Given the description of an element on the screen output the (x, y) to click on. 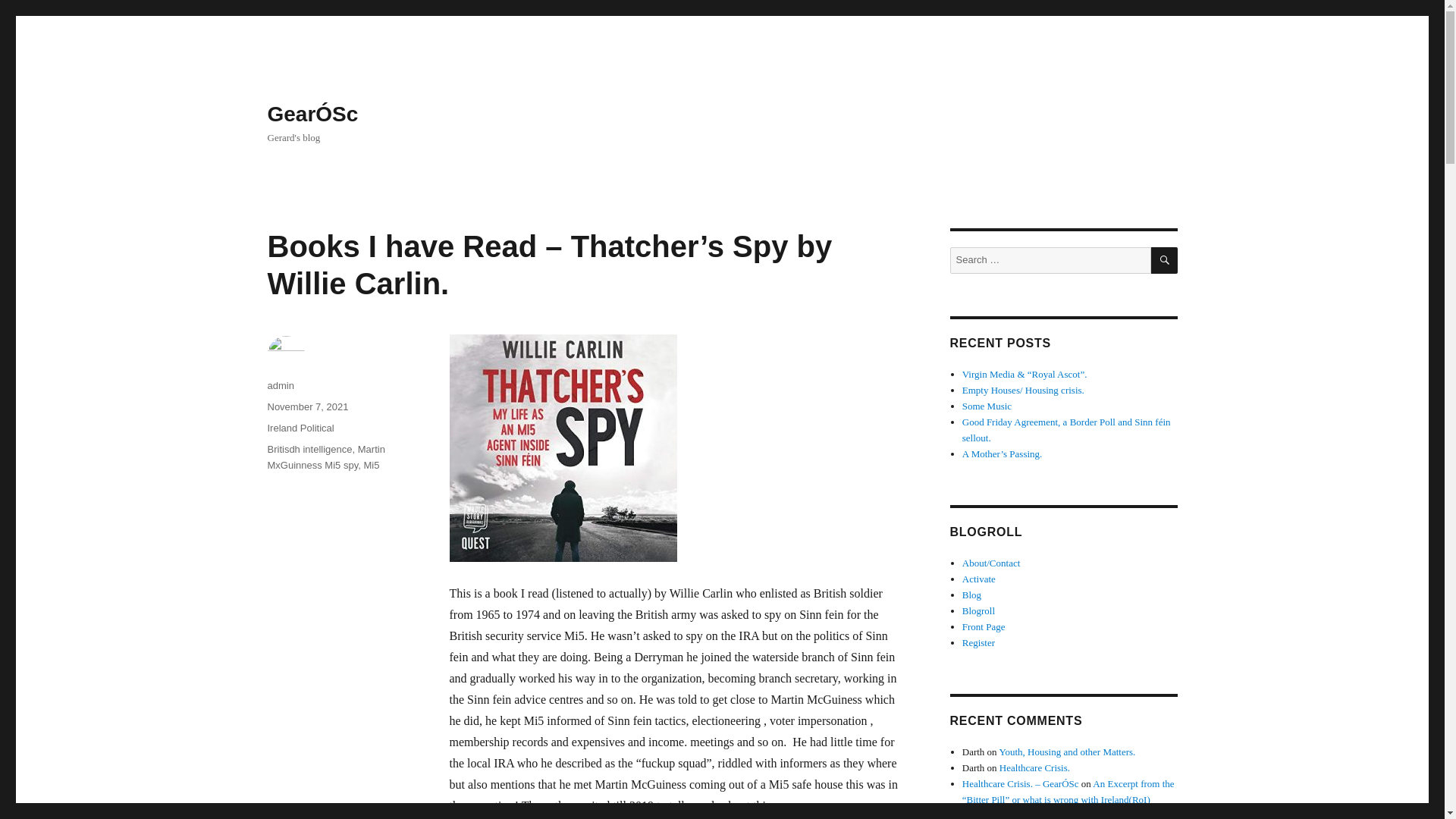
Blog (971, 594)
Some Music (986, 405)
Martin MxGuinness Mi5 spy (325, 456)
November 7, 2021 (306, 406)
admin (280, 385)
Activate (978, 578)
Britisdh intelligence (309, 449)
Register (978, 642)
Healthcare Crisis. (1034, 767)
Youth, Housing and other Matters. (1066, 751)
Mi5 (370, 464)
Blogroll (978, 610)
Ireland Political (299, 428)
SEARCH (1164, 260)
Front Page (984, 626)
